Given the description of an element on the screen output the (x, y) to click on. 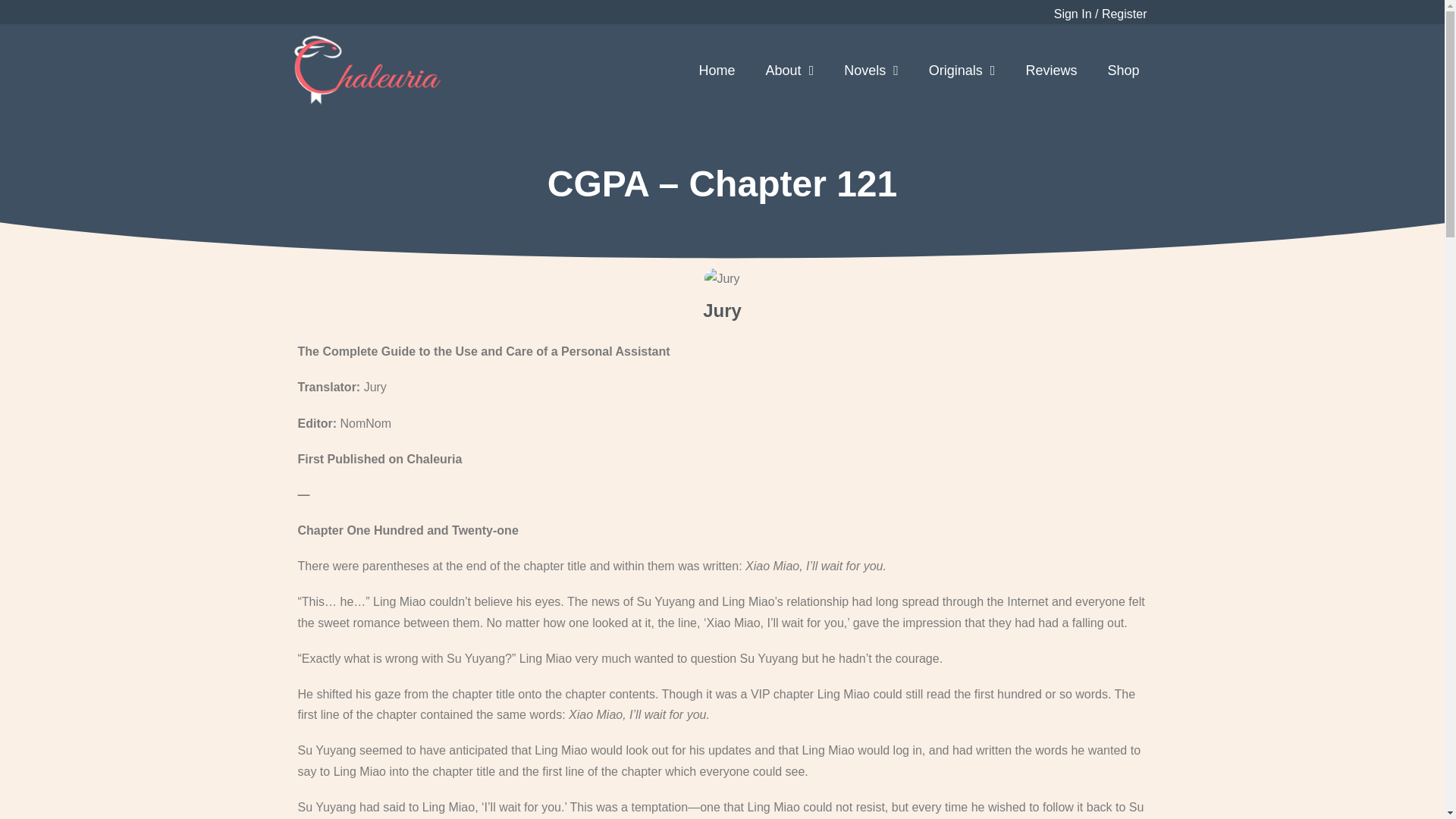
Sign In (1074, 13)
Novels (871, 70)
Home (717, 70)
Originals (962, 70)
Reviews (1051, 70)
Shop (1123, 70)
Register (1124, 13)
About (790, 70)
